Given the description of an element on the screen output the (x, y) to click on. 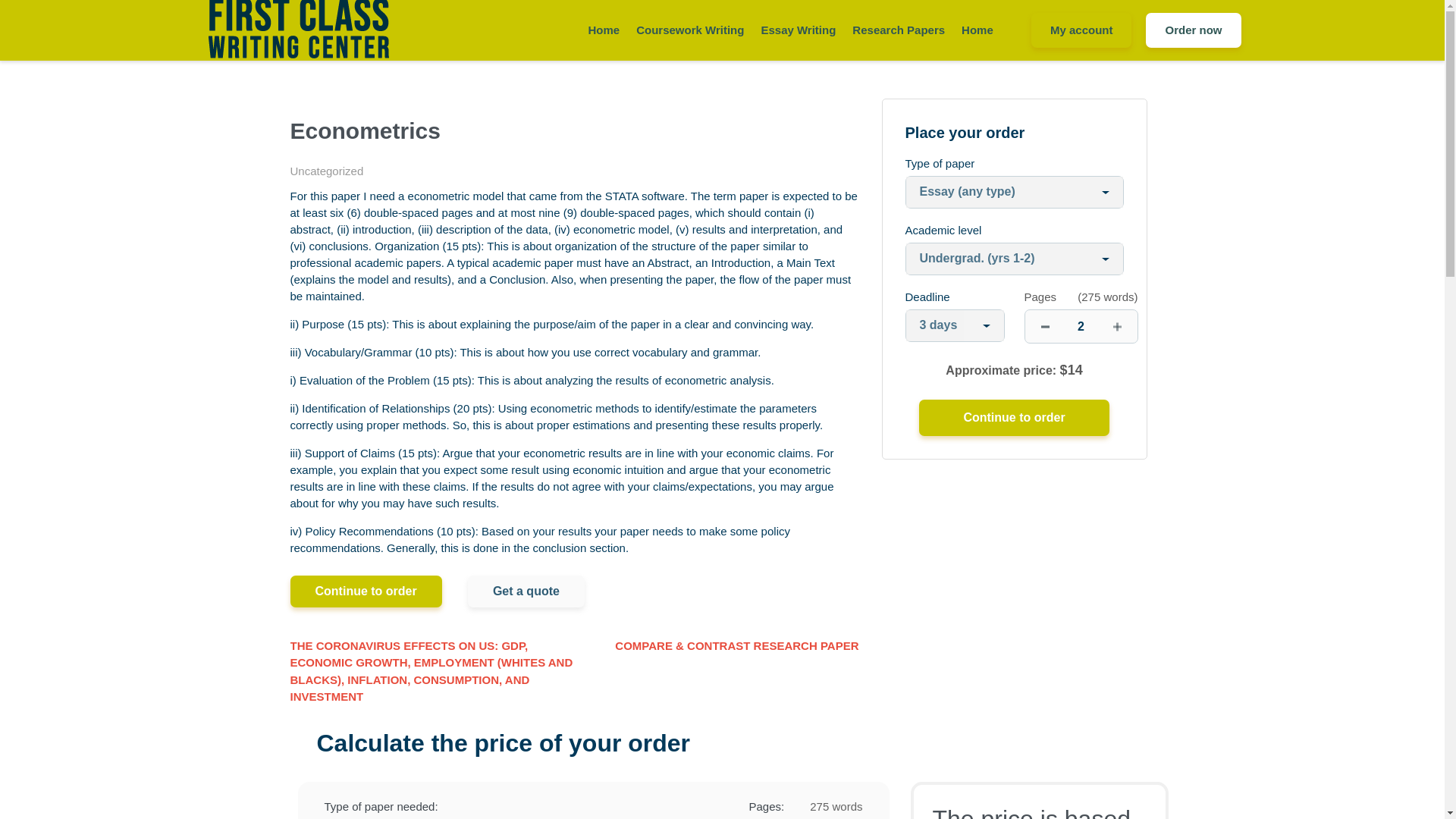
Coursework Writing (690, 30)
Continue to order (365, 591)
Continue to order (1013, 417)
Home (976, 30)
Essay Writing (797, 30)
Research Papers (897, 30)
Get a quote (526, 591)
2 (1081, 326)
Home (604, 30)
Order now (1192, 30)
Continue to order (1013, 417)
Uncategorized (325, 170)
My account (1081, 30)
